Given the description of an element on the screen output the (x, y) to click on. 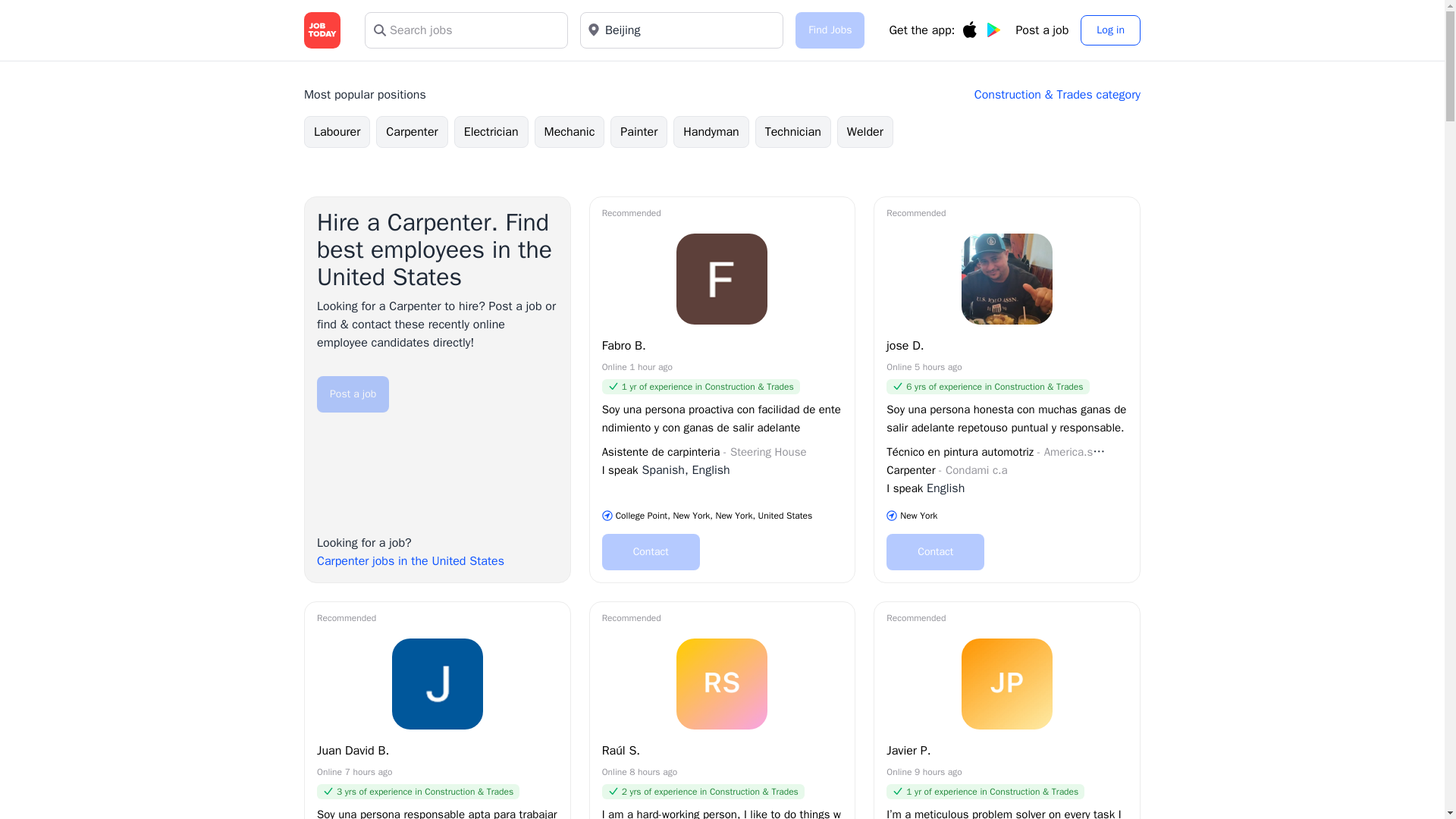
Carpenter (410, 132)
Labourer (336, 132)
Carpenter jobs in the United States (410, 560)
Painter (638, 132)
Get the app: (945, 30)
Contact (935, 551)
Post a job (1041, 30)
Welder (865, 132)
Post a job (352, 393)
Contact (651, 551)
Handyman (710, 132)
Mechanic (569, 132)
Technician (793, 132)
Beijing (681, 30)
